Given the description of an element on the screen output the (x, y) to click on. 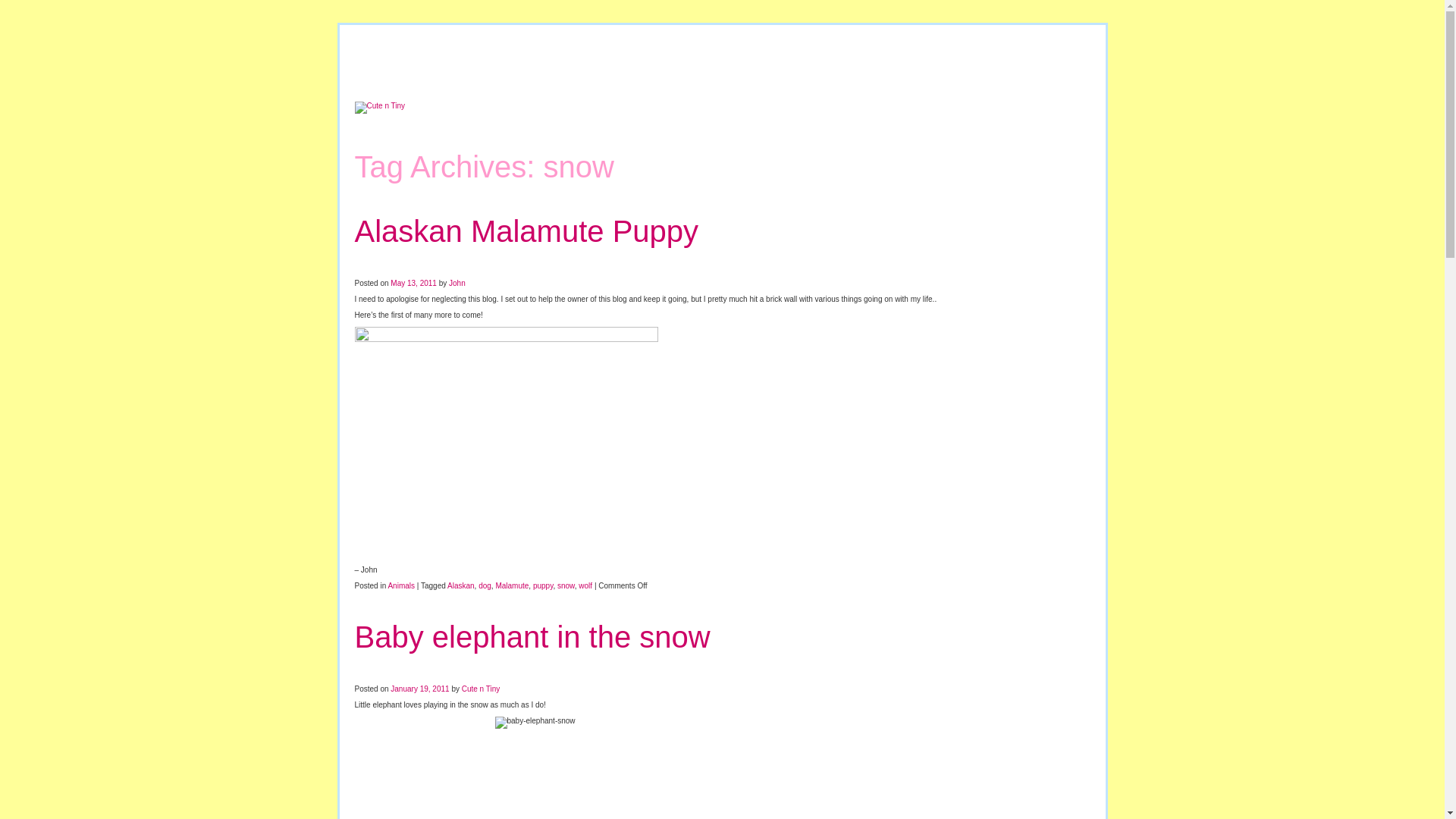
John (456, 283)
Permalink to Alaskan Malamute Puppy (526, 231)
baby-elephant-snow (722, 767)
snow (566, 585)
Cute n Tiny (480, 688)
View all posts by Cute n Tiny (480, 688)
Permalink to Baby elephant in the snow (532, 636)
May 13, 2011 (413, 283)
Alaskan Malamute Puppy (526, 231)
wolf (585, 585)
January 19, 2011 (419, 688)
dog (485, 585)
Baby elephant in the snow (532, 636)
Malamute (511, 585)
puppy (542, 585)
